Given the description of an element on the screen output the (x, y) to click on. 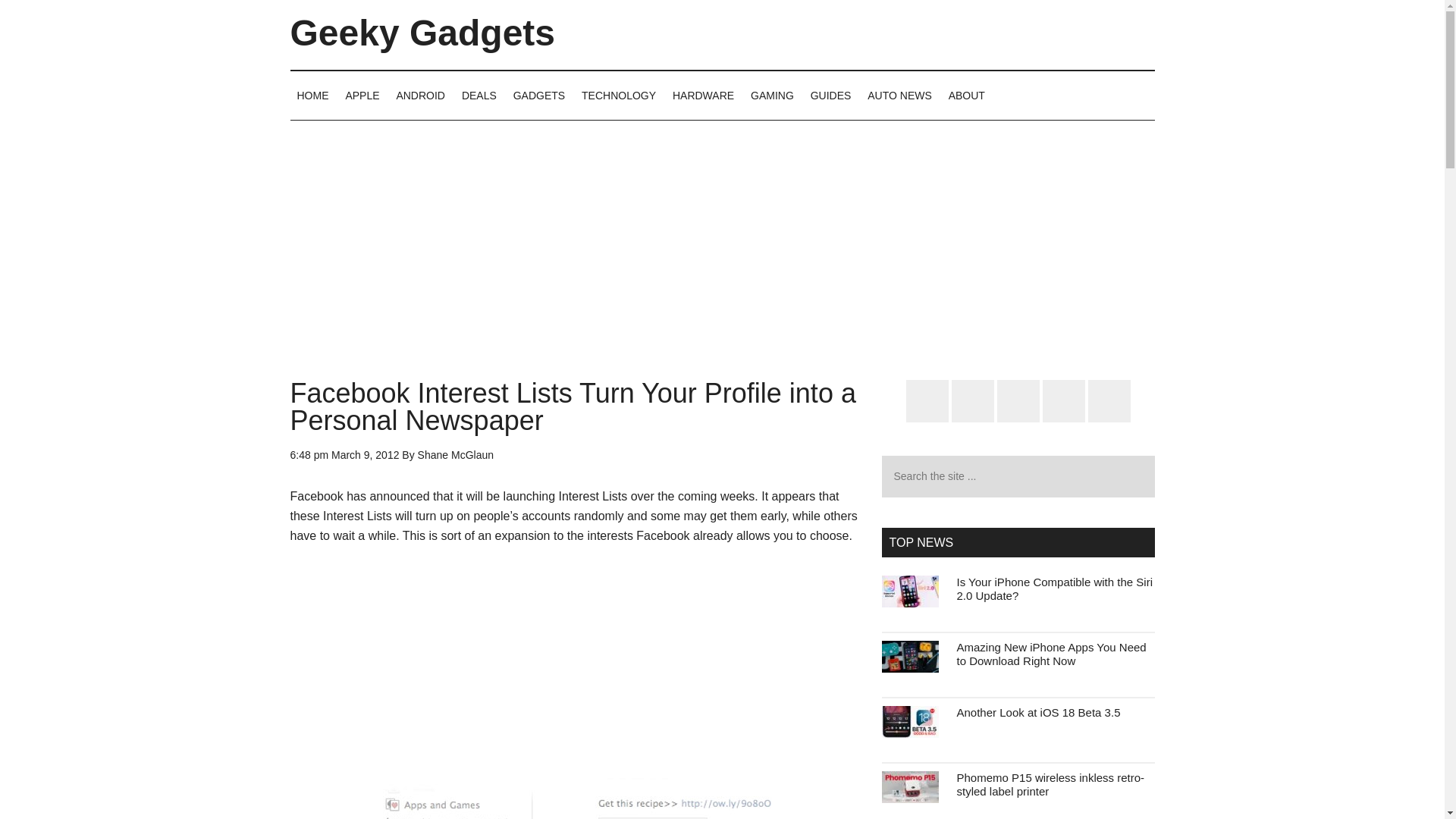
HARDWARE (703, 95)
Another Look at iOS 18 Beta 3.5 (1038, 712)
Geeky Gadgets (421, 33)
AUTO NEWS (899, 95)
About Geeky Gadgets (966, 95)
Phomemo P15 wireless inkless retro-styled label printer (1050, 784)
GADGETS (539, 95)
Amazing New iPhone Apps You Need to Download Right Now (1051, 653)
GUIDES (831, 95)
Is Your iPhone Compatible with the Siri 2.0 Update? (1054, 588)
ANDROID (419, 95)
DEALS (478, 95)
